Given the description of an element on the screen output the (x, y) to click on. 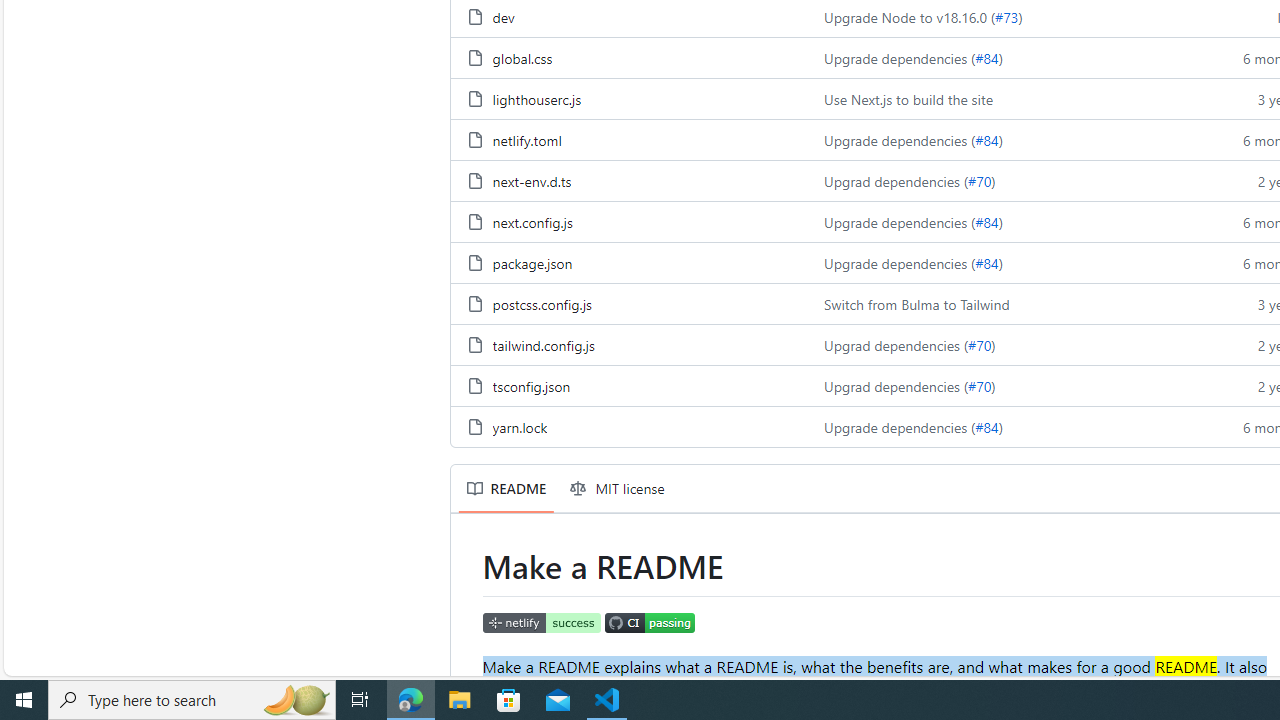
README (506, 488)
) (1000, 426)
package.json, (File) (532, 262)
next-env.d.ts, (File) (629, 179)
postcss.config.js, (File) (629, 303)
lighthouserc.js, (File) (629, 97)
tailwind.config.js, (File) (629, 344)
Permalink: Make a README (468, 566)
Upgrad dependencies (#70) (1008, 385)
CI status (649, 624)
next-env.d.ts, (File) (531, 180)
#70 (979, 385)
netlify.toml, (File) (526, 139)
tailwind.config.js, (File) (543, 344)
CI status (649, 622)
